Given the description of an element on the screen output the (x, y) to click on. 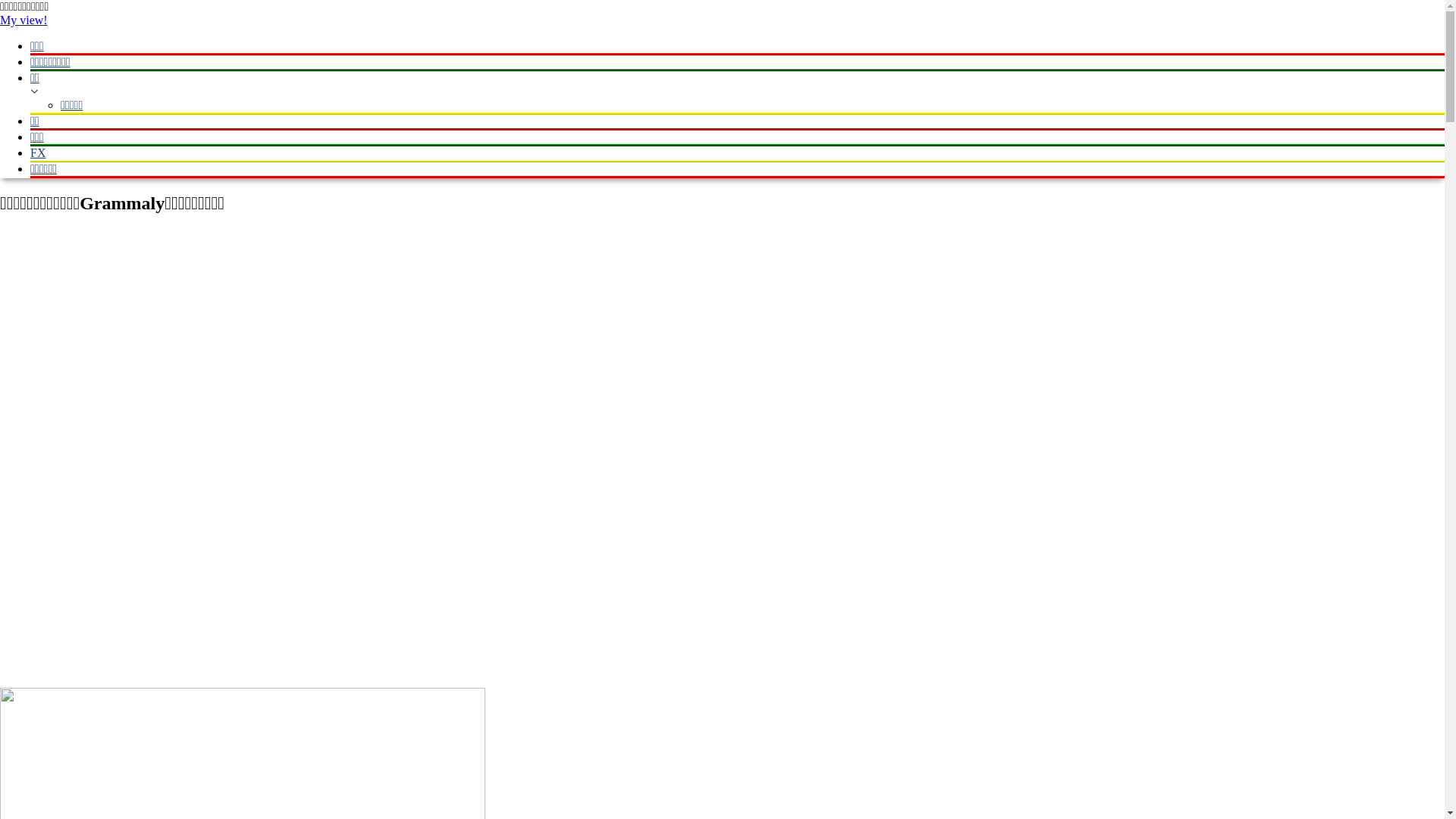
Advertisement Element type: hover (326, 564)
Advertisement Element type: hover (326, 335)
FX Element type: text (737, 153)
My view! Element type: text (23, 19)
